Given the description of an element on the screen output the (x, y) to click on. 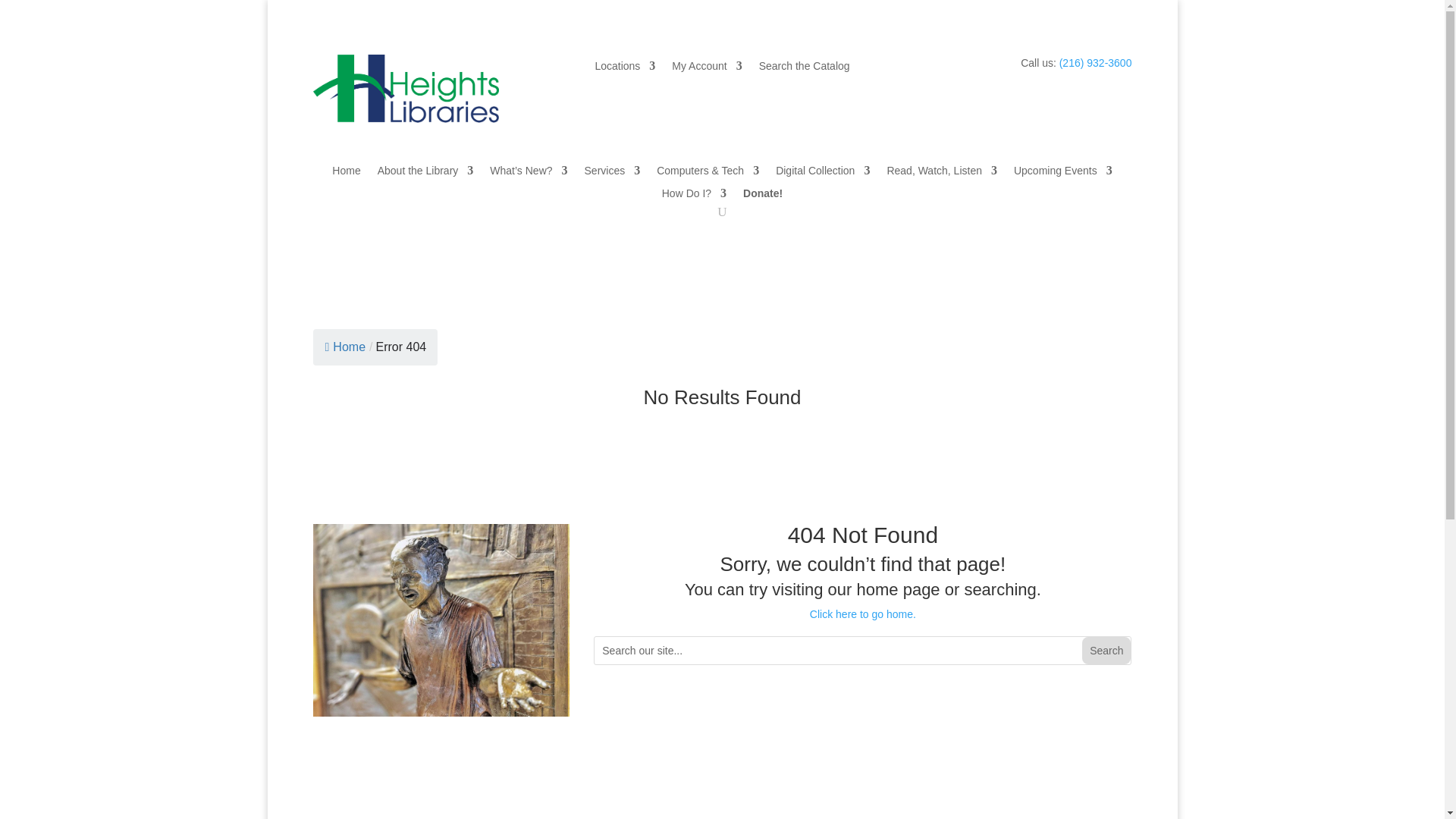
Search (1106, 650)
Locations (624, 68)
harvey-shrug (441, 620)
Services (612, 173)
Search the Catalog (804, 68)
Search (1106, 650)
About the Library (425, 173)
Home (345, 173)
My Account (706, 68)
